Given the description of an element on the screen output the (x, y) to click on. 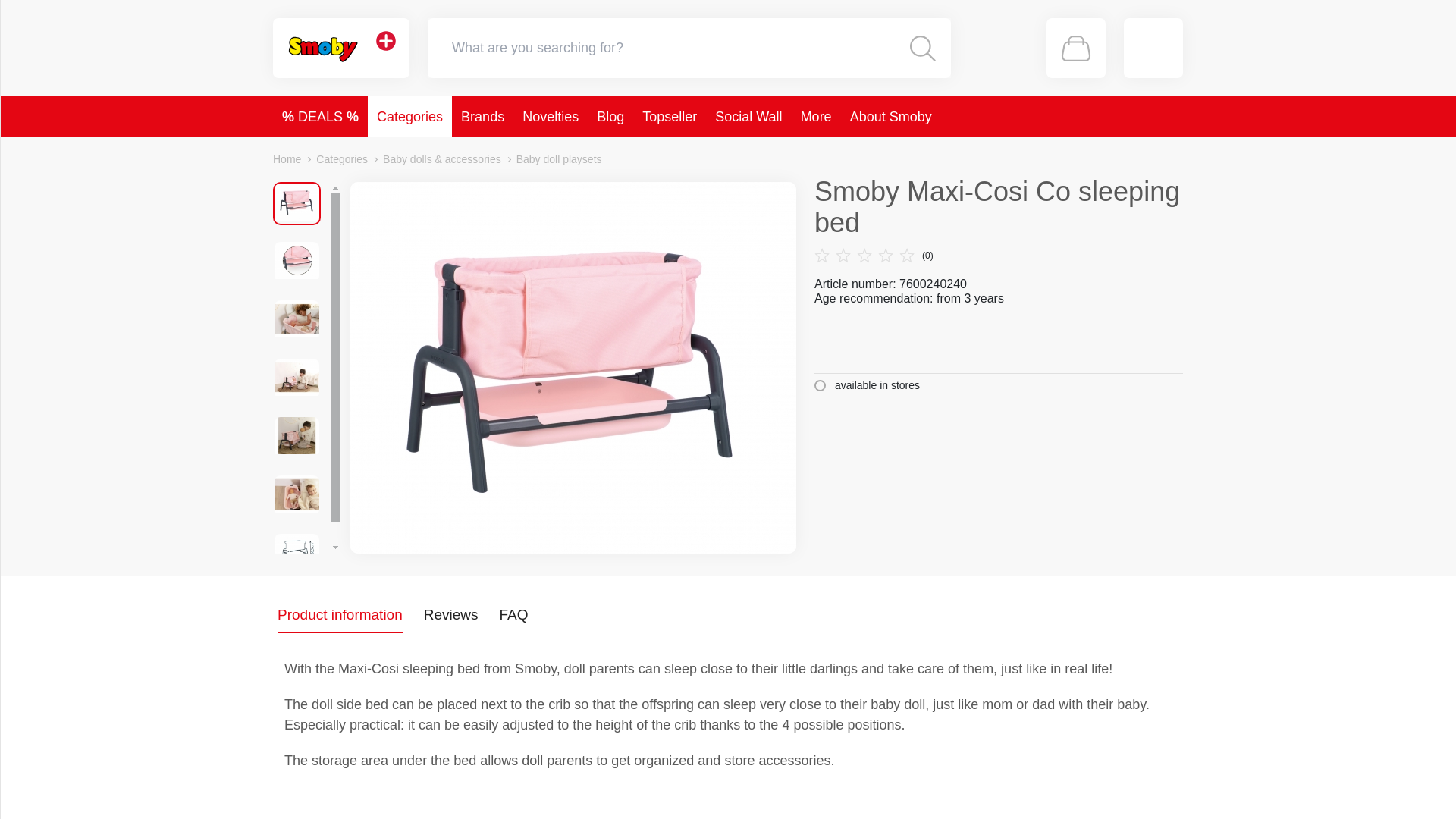
Categories (409, 116)
DEALS (320, 116)
DEALS (320, 116)
Login (1153, 47)
Categories (409, 116)
